Given the description of an element on the screen output the (x, y) to click on. 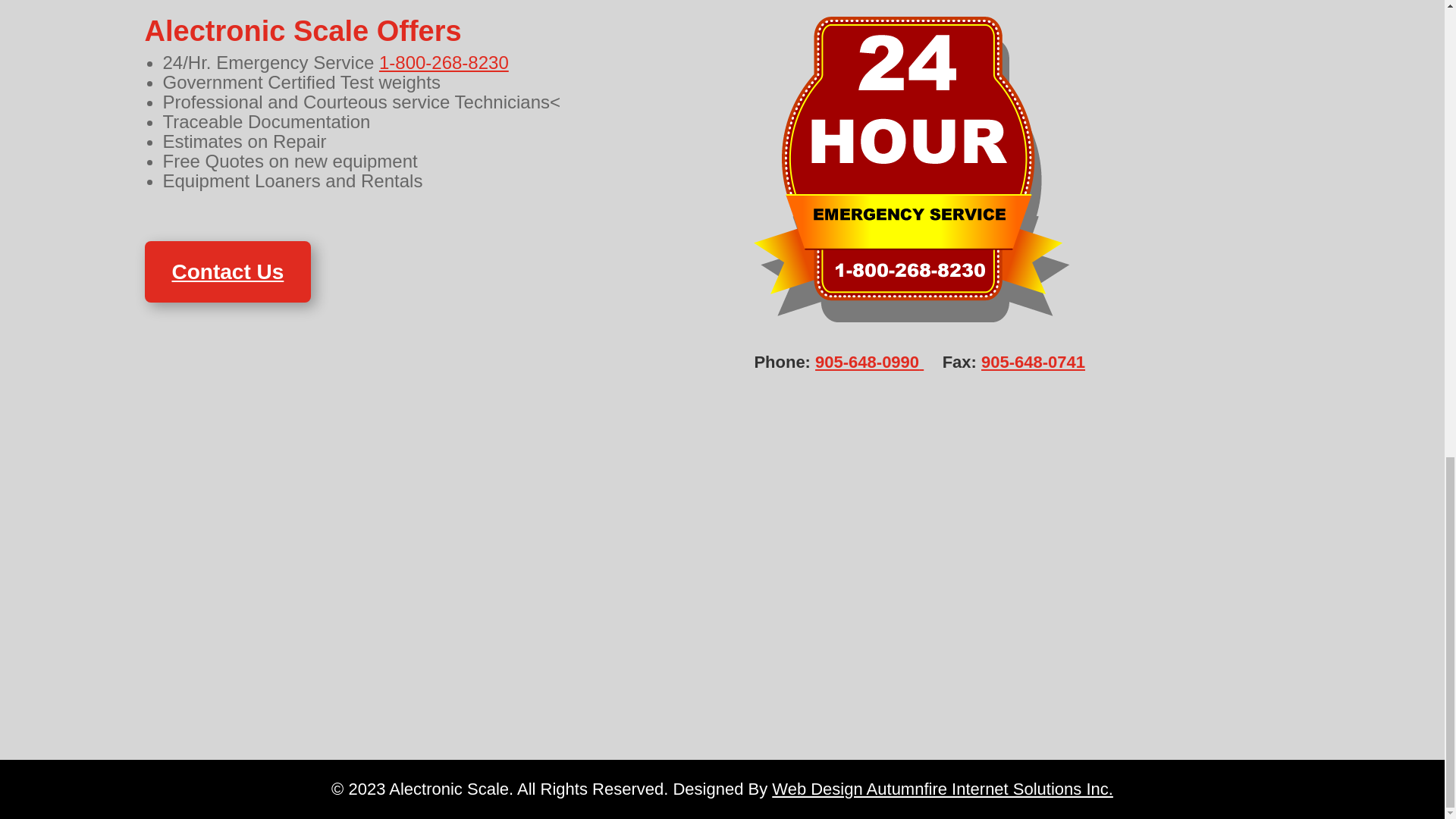
24Hour.WhiteText.fw (912, 169)
905-648-0990  (869, 361)
Contact Us (227, 271)
1-800-268-8230 (443, 62)
